Given the description of an element on the screen output the (x, y) to click on. 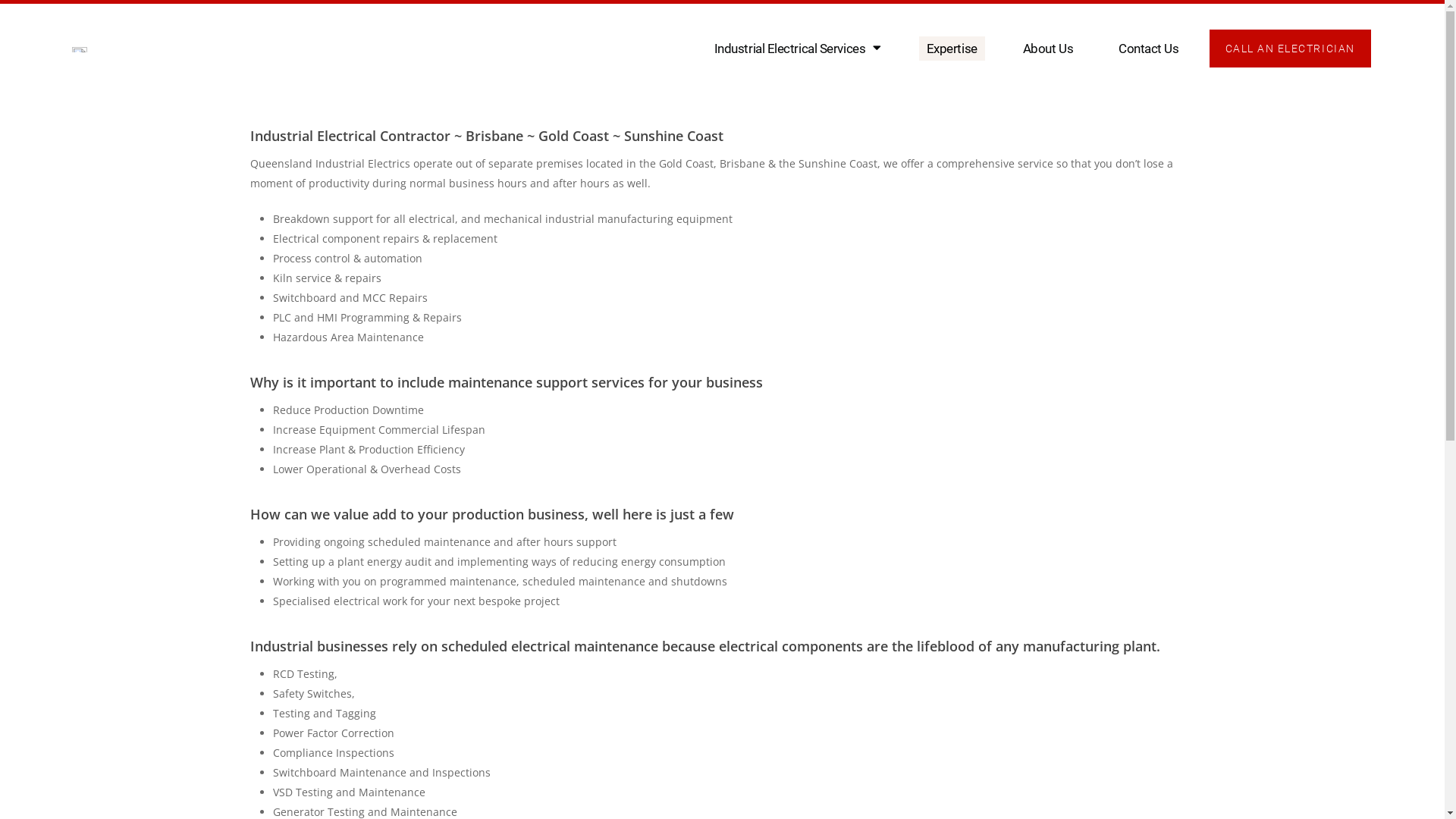
Industrial Electrical Services Element type: text (797, 48)
CALL AN ELECTRICIAN Element type: text (1290, 48)
Contact Us Element type: text (1148, 48)
Expertise Element type: text (952, 48)
About Us Element type: text (1047, 48)
